Given the description of an element on the screen output the (x, y) to click on. 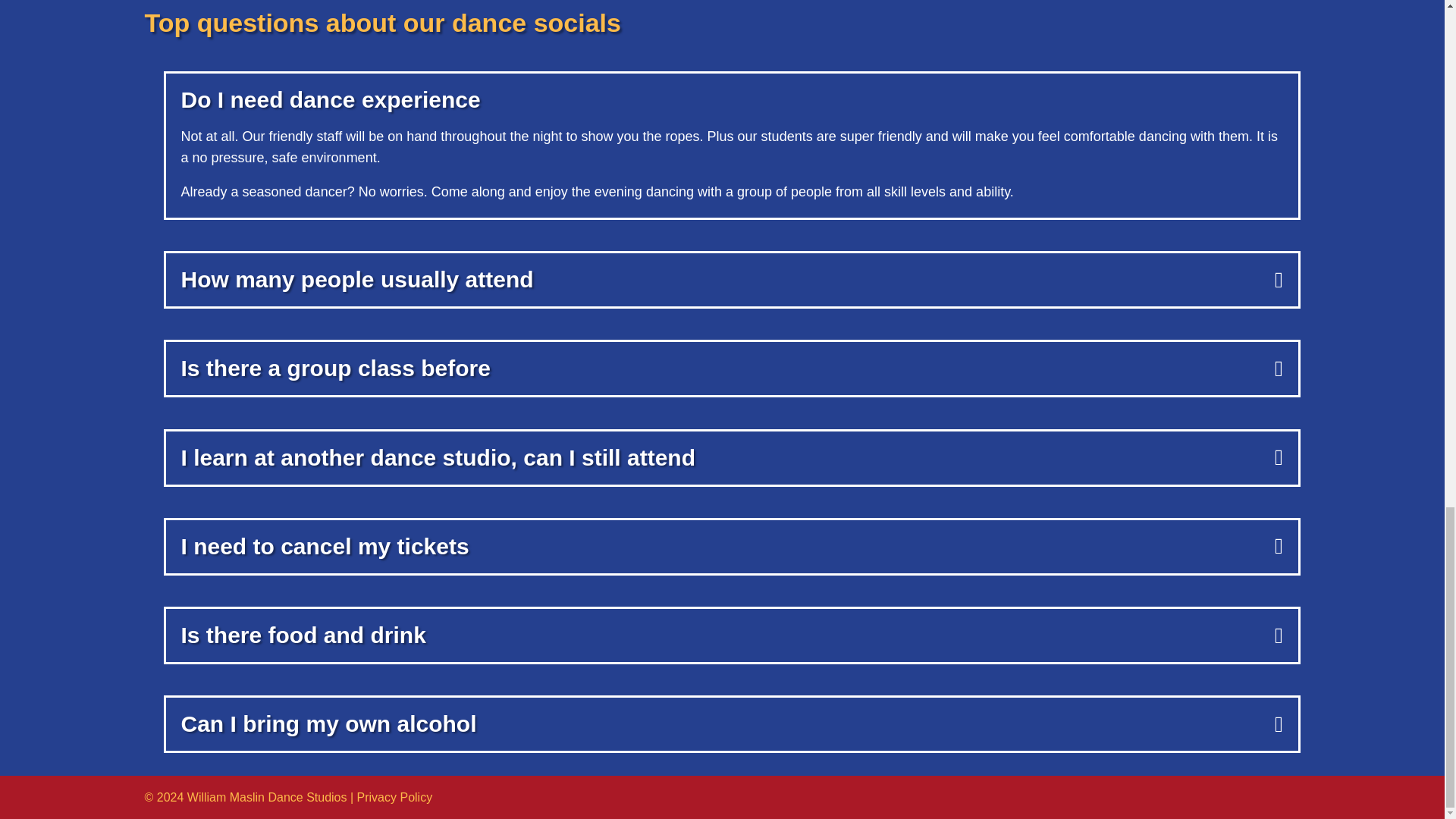
Privacy Policy (394, 797)
